Given the description of an element on the screen output the (x, y) to click on. 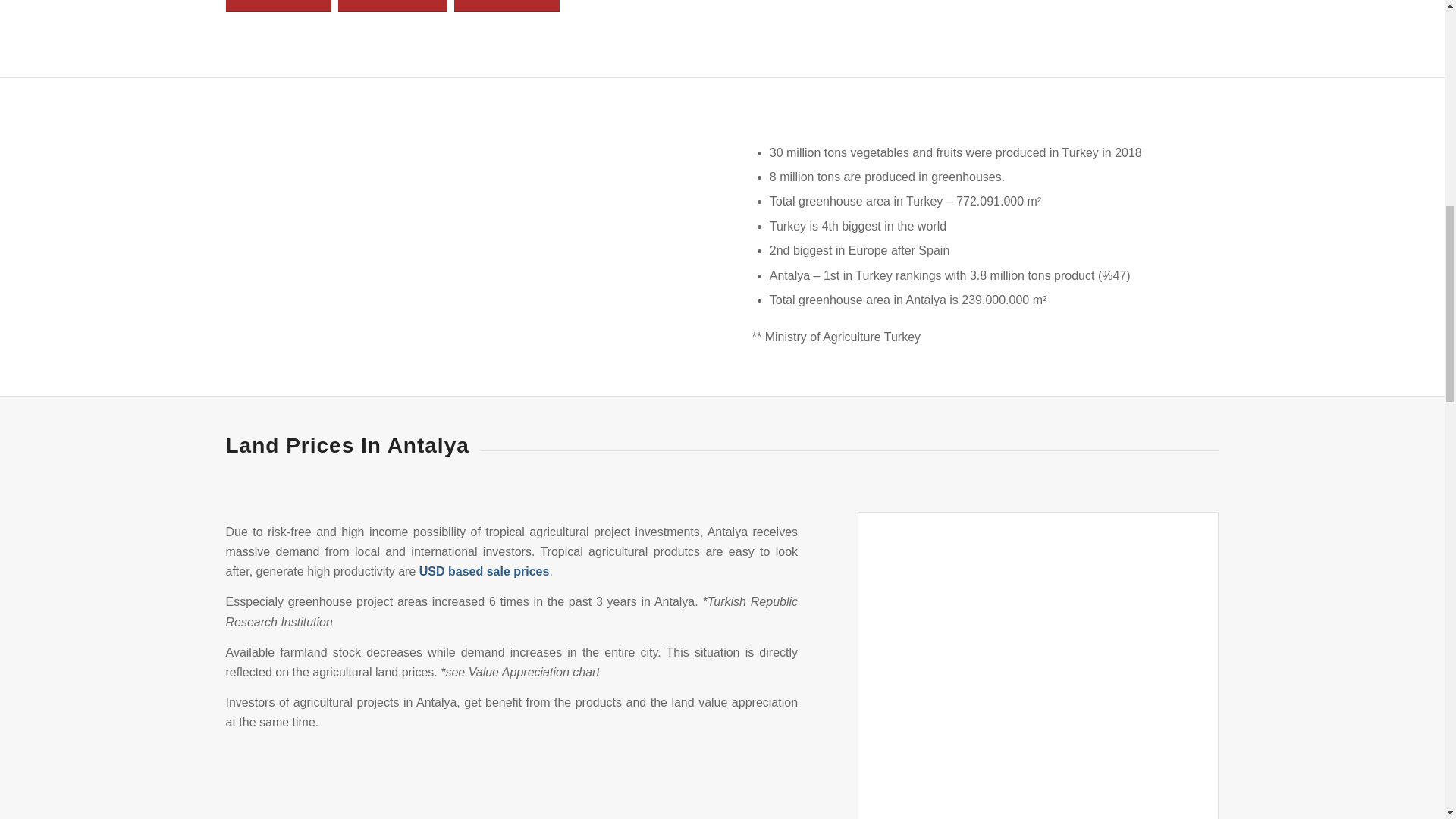
Contact us (278, 6)
Project Details (391, 6)
Feasibility (506, 6)
